Given the description of an element on the screen output the (x, y) to click on. 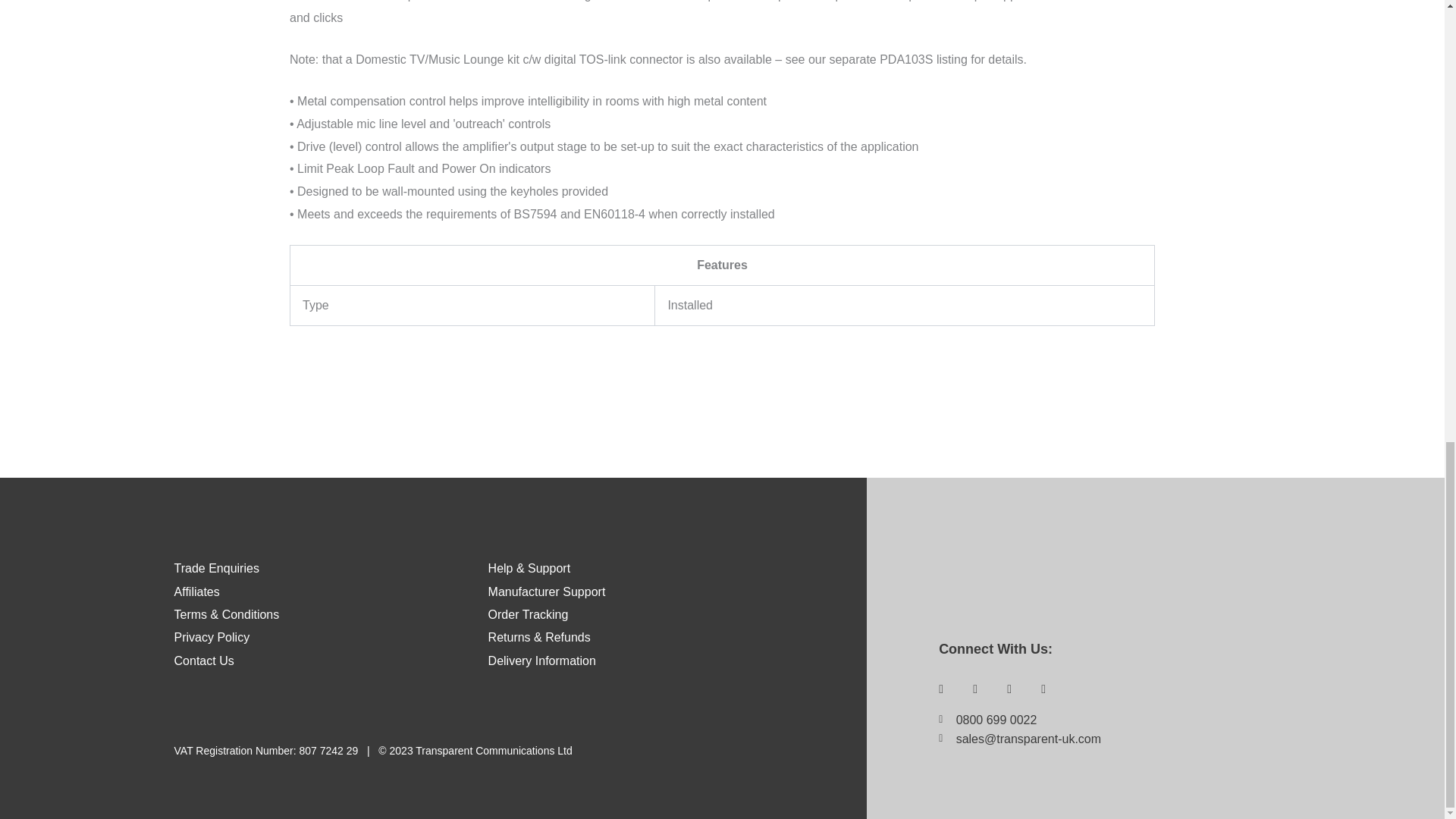
Trade Enquiries (216, 567)
Contact Us (204, 660)
Affiliates (196, 591)
Privacy Policy (212, 636)
Order Tracking (528, 614)
Manufacturer Support (546, 591)
